Given the description of an element on the screen output the (x, y) to click on. 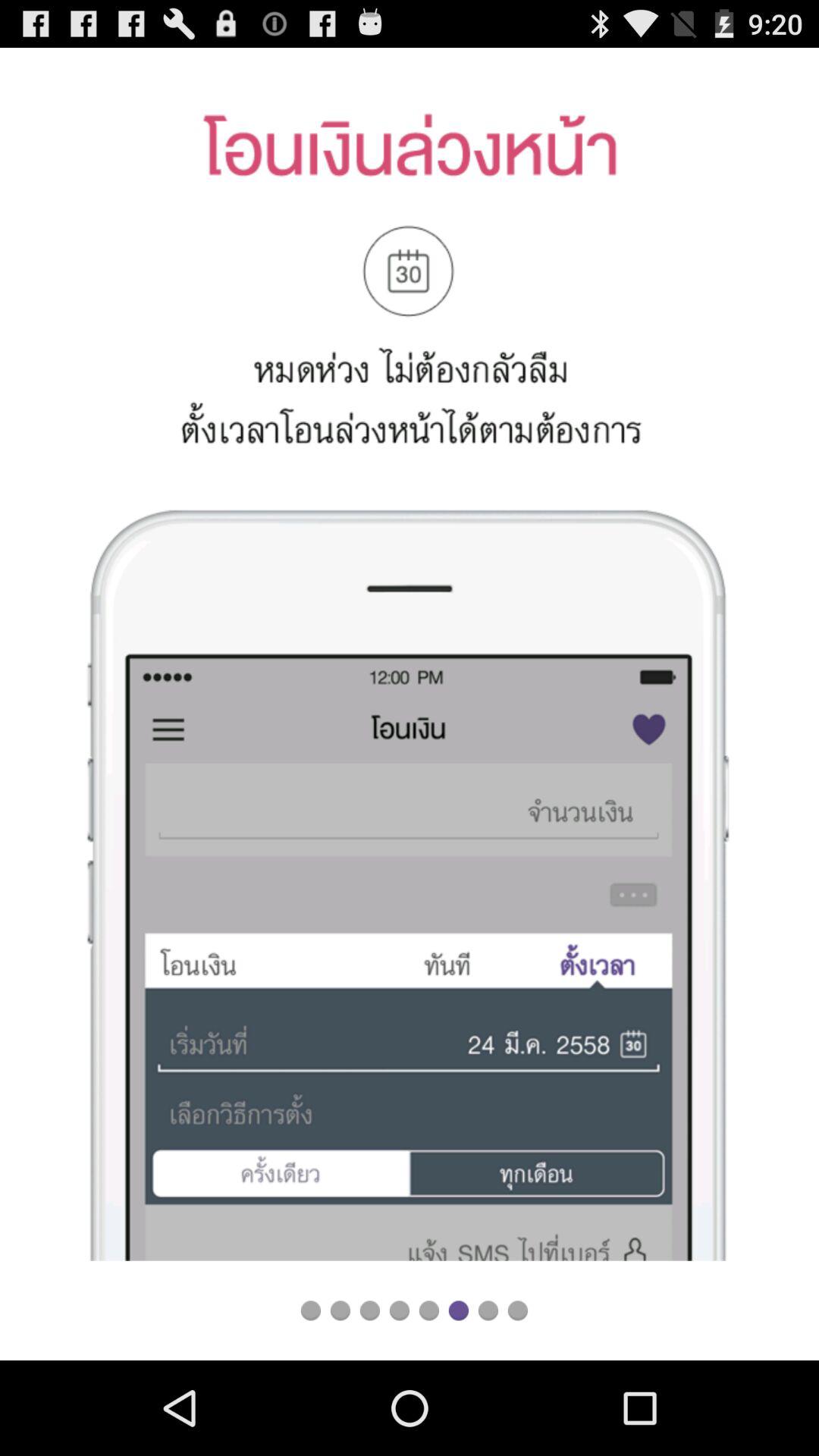
move to next page (458, 1310)
